Given the description of an element on the screen output the (x, y) to click on. 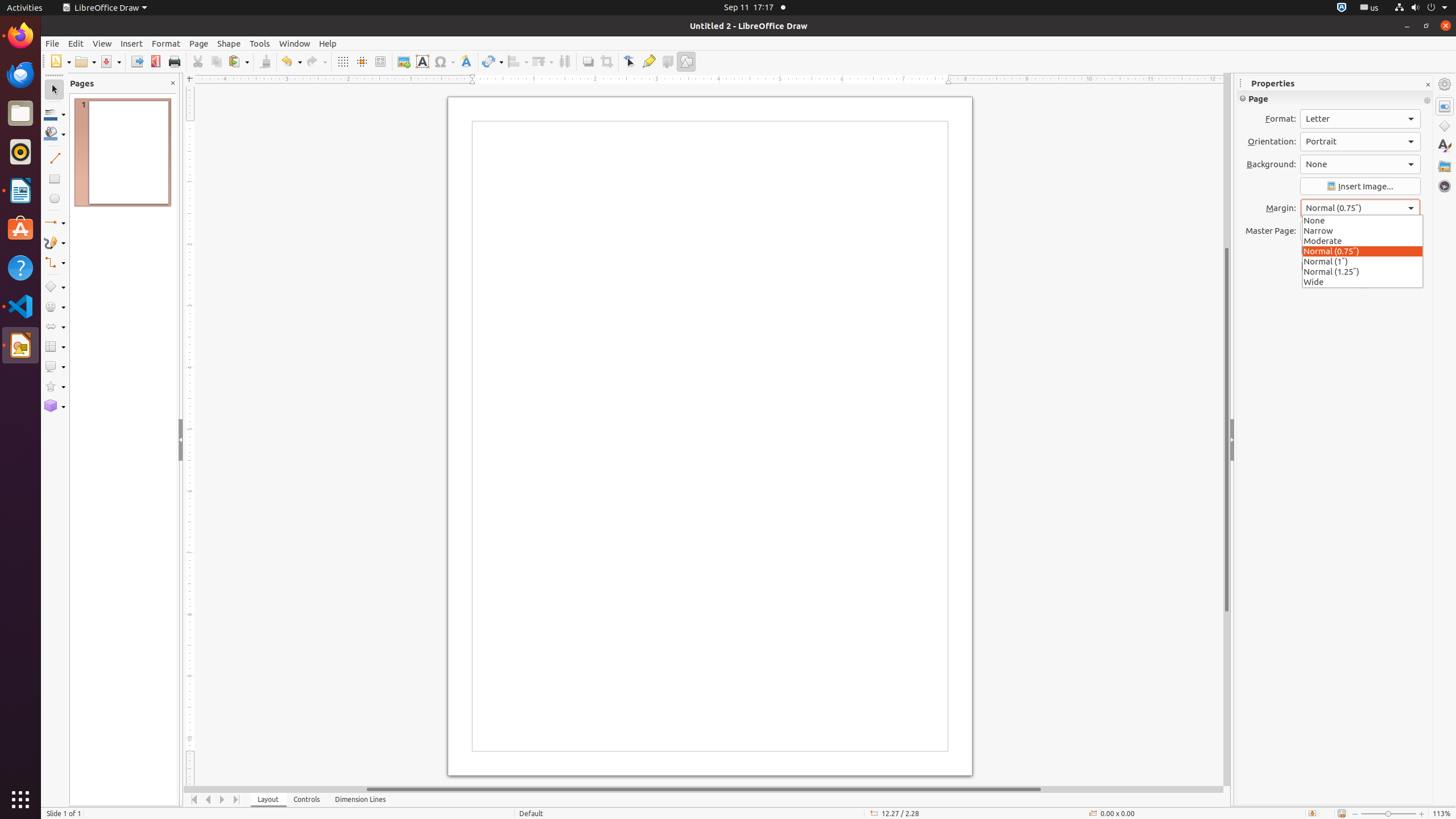
Move To Home Element type: push-button (194, 799)
Grid Element type: toggle-button (342, 61)
Flowchart Shapes Element type: push-button (54, 346)
Fill Color Element type: push-button (146, 81)
Transformations Element type: push-button (492, 61)
